Given the description of an element on the screen output the (x, y) to click on. 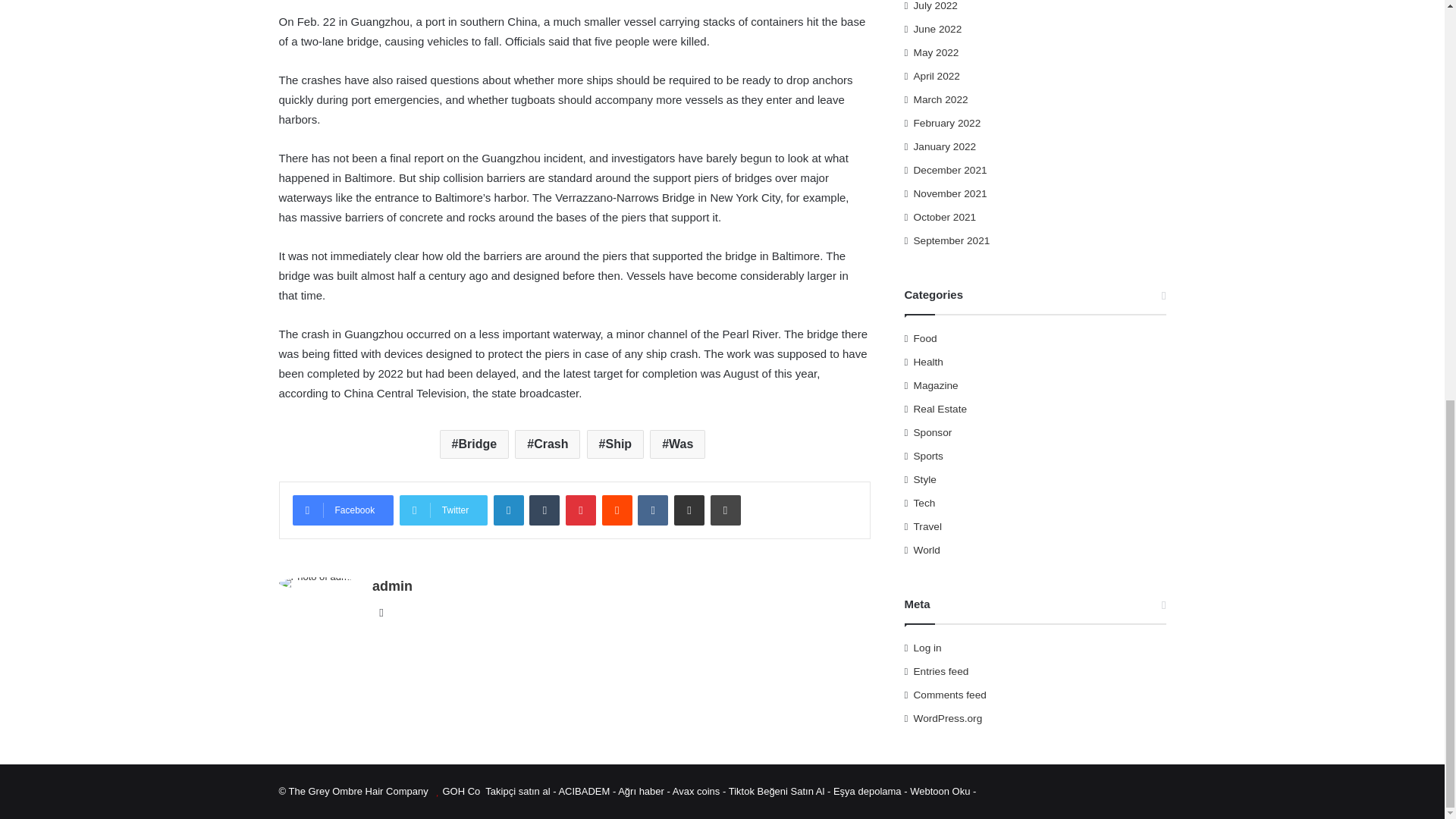
Twitter (442, 510)
Facebook (343, 510)
VKontakte (652, 510)
Reddit (616, 510)
Ship (615, 443)
LinkedIn (508, 510)
Reddit (616, 510)
LinkedIn (508, 510)
Facebook (343, 510)
Was (676, 443)
Share via Email (689, 510)
Twitter (442, 510)
Crash (547, 443)
Bridge (474, 443)
Tumblr (544, 510)
